Given the description of an element on the screen output the (x, y) to click on. 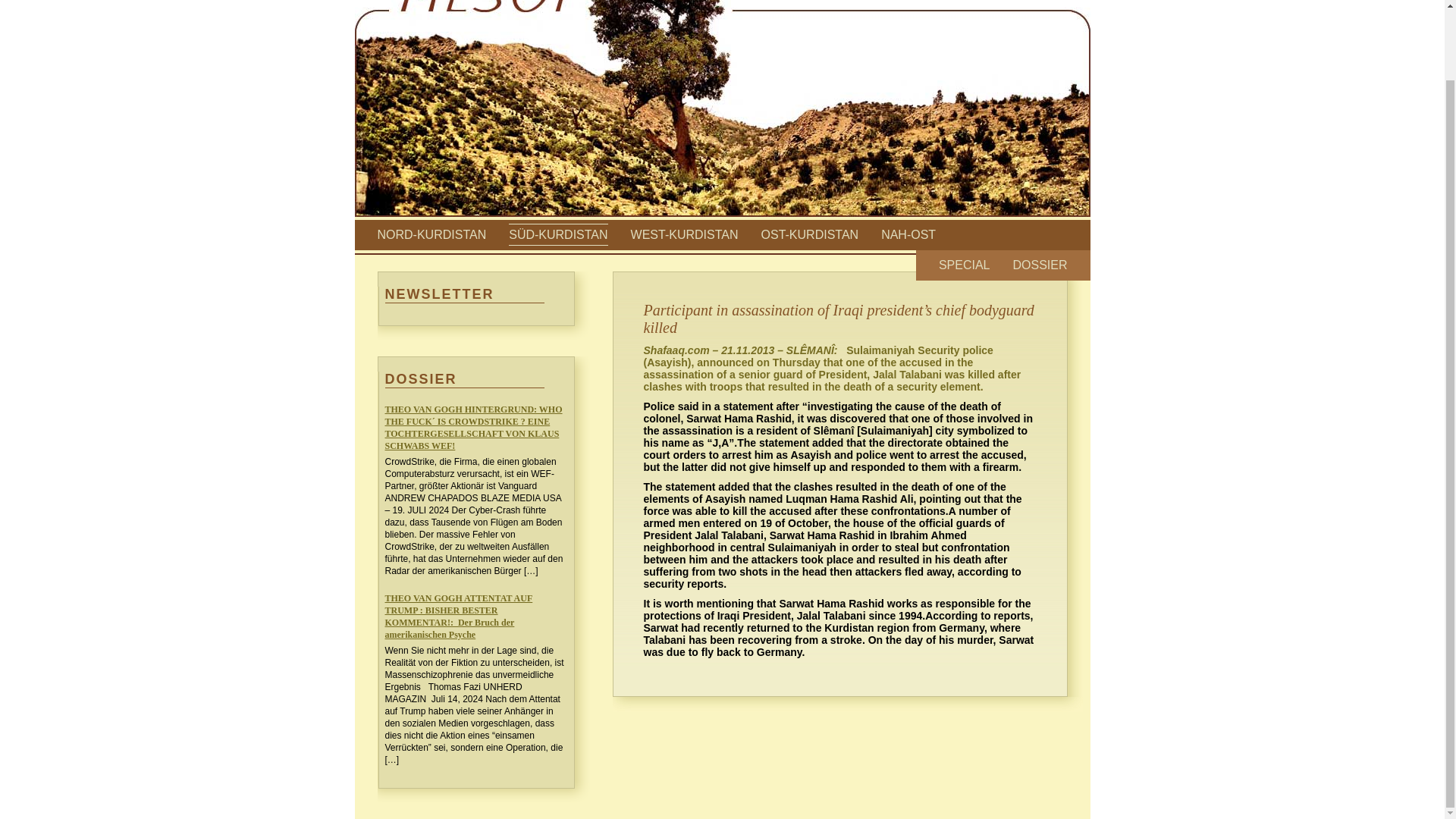
NAH-OST (908, 234)
SPECIAL (964, 264)
HOME (969, 0)
NORD-KURDISTAN (431, 234)
OST-KURDISTAN (810, 234)
IMPRESSUM (1035, 0)
WEST-KURDISTAN (684, 234)
DOSSIER (1039, 264)
